Given the description of an element on the screen output the (x, y) to click on. 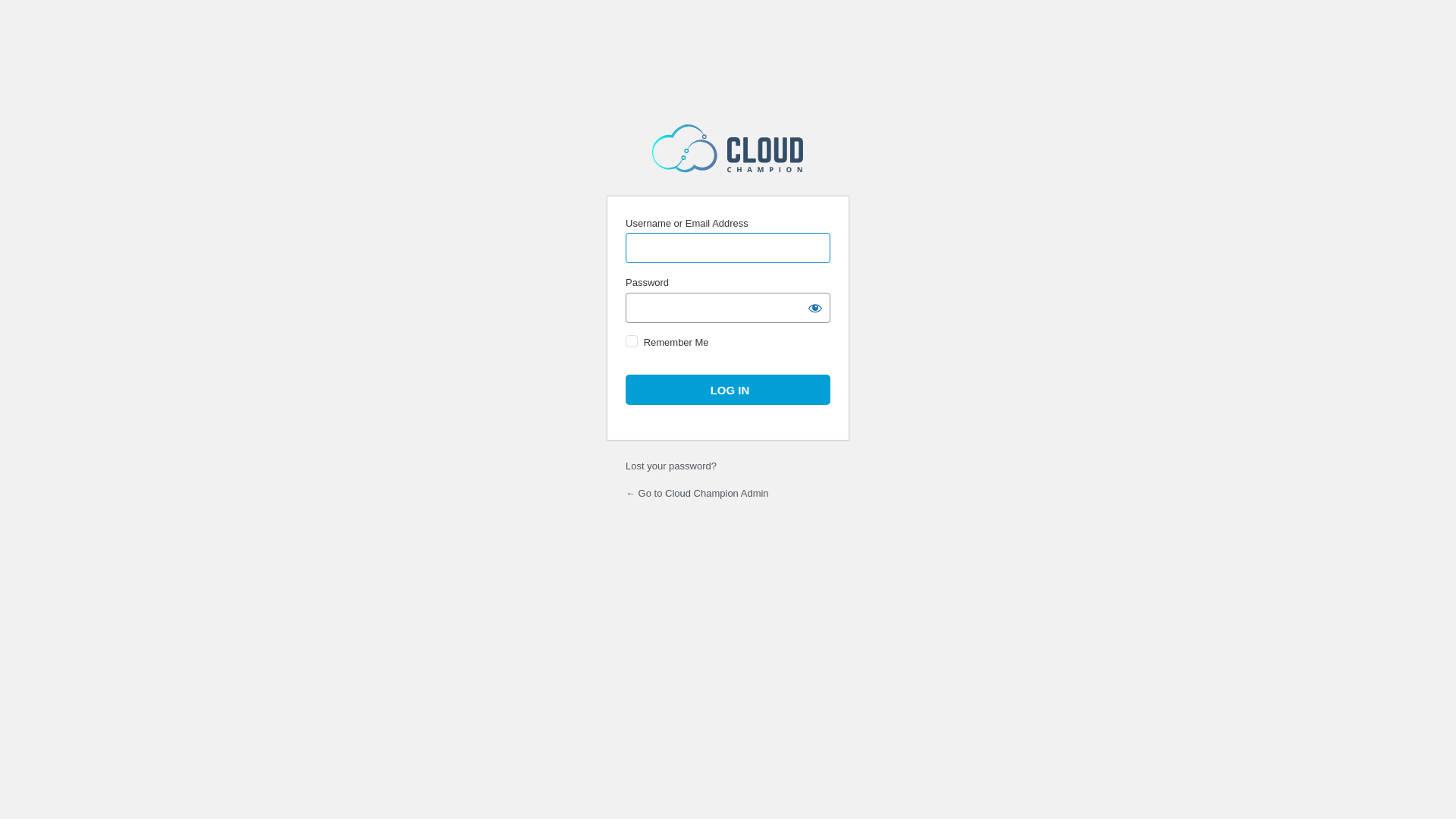
Powered by WordPress Element type: text (727, 148)
Lost your password? Element type: text (670, 465)
Log In Element type: text (727, 389)
